Given the description of an element on the screen output the (x, y) to click on. 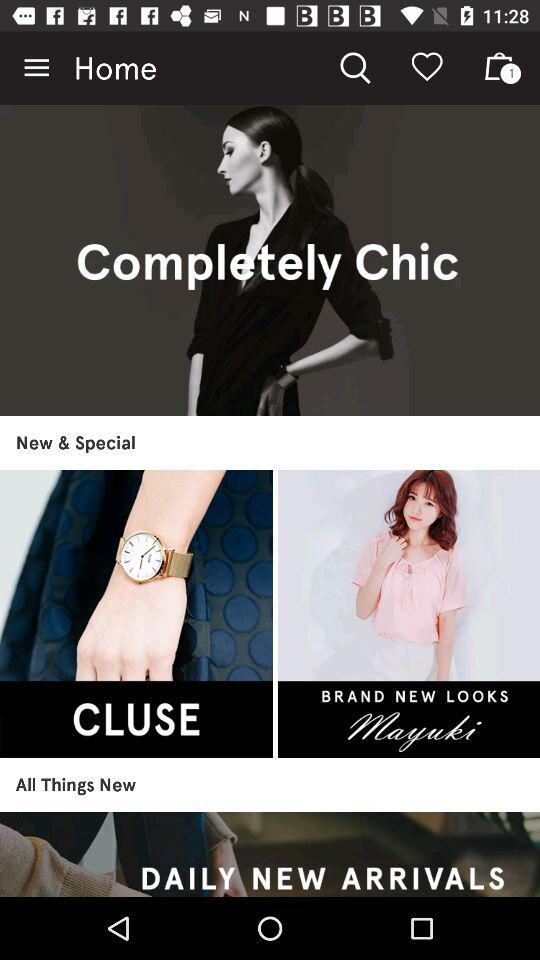
turn on icon next to home item (36, 68)
